Given the description of an element on the screen output the (x, y) to click on. 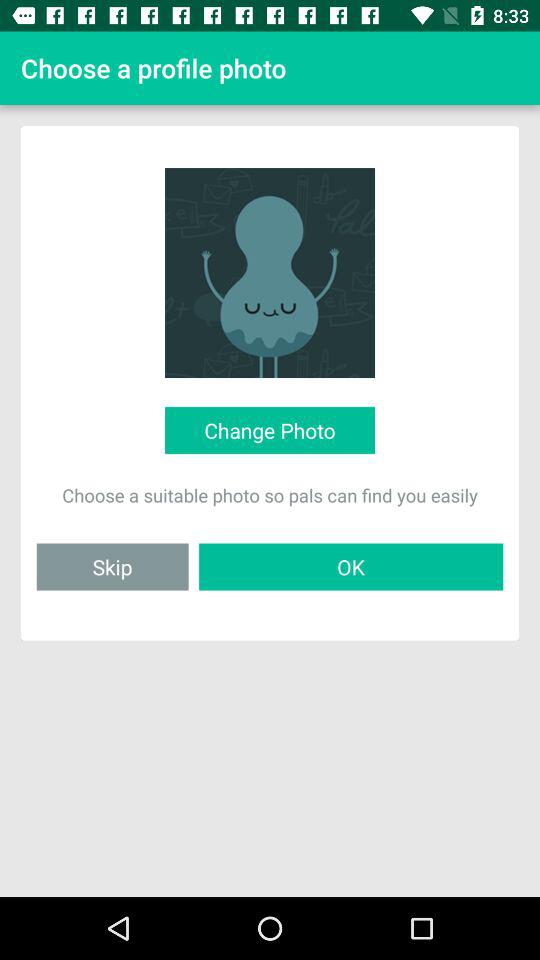
tap item below the choose a suitable (112, 566)
